Given the description of an element on the screen output the (x, y) to click on. 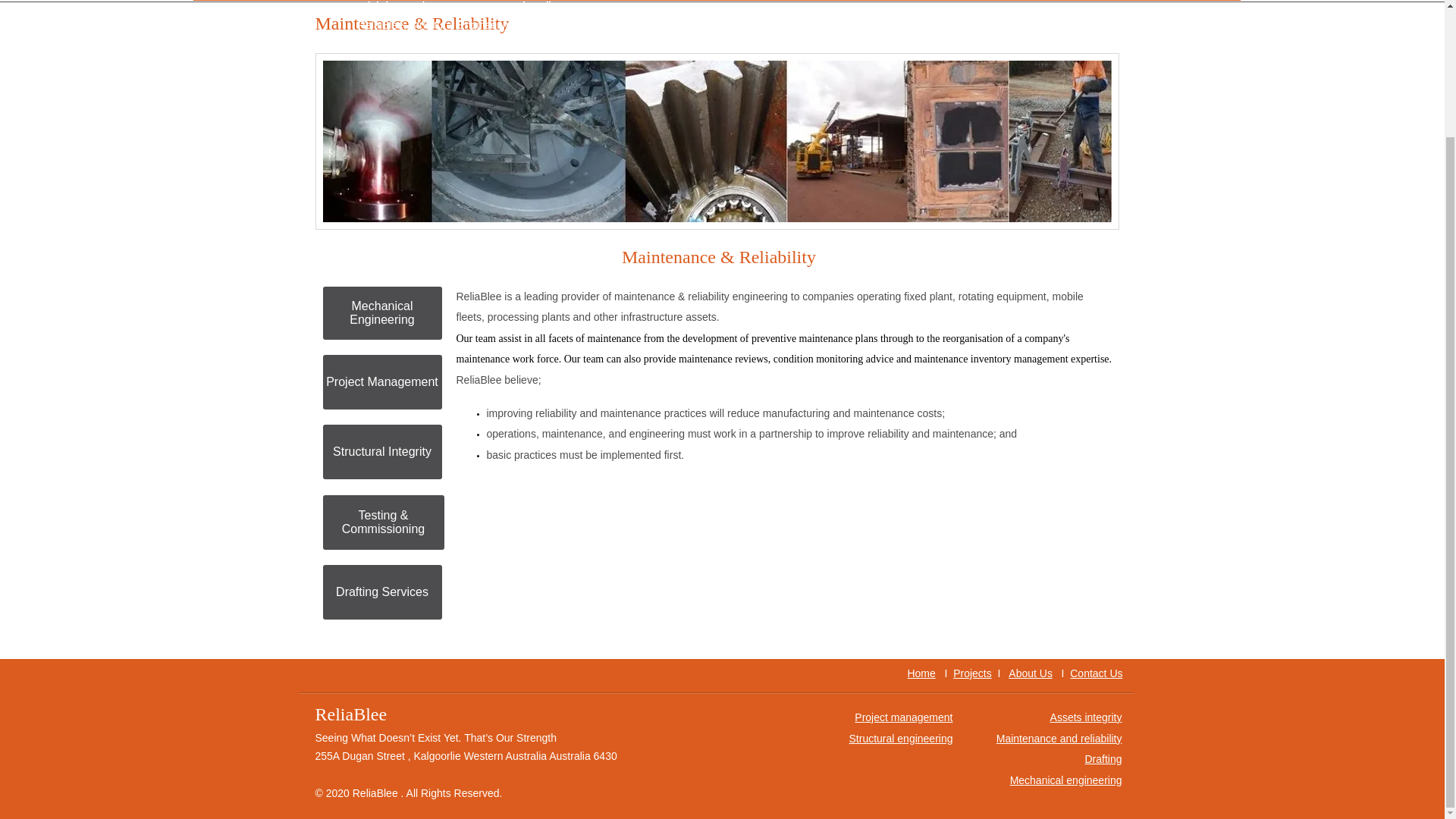
Maintenance and reliability (1058, 738)
Drafting Services (382, 592)
Mechanical engineering (1066, 779)
Project Management (382, 381)
Mechanical Engineering (382, 312)
RelaiBlee, Structural Engineering, Kalgo (453, 25)
Drafting (1102, 758)
Structural Integrity (382, 452)
Home (920, 673)
About Us (1030, 673)
RelaiBlee, Mechanical Engineering, Kalgo (453, 45)
RelaiBlee, Project Management, Kalgoorli (453, 8)
Projects (972, 673)
Project management (903, 717)
Assets integrity (1085, 717)
